Given the description of an element on the screen output the (x, y) to click on. 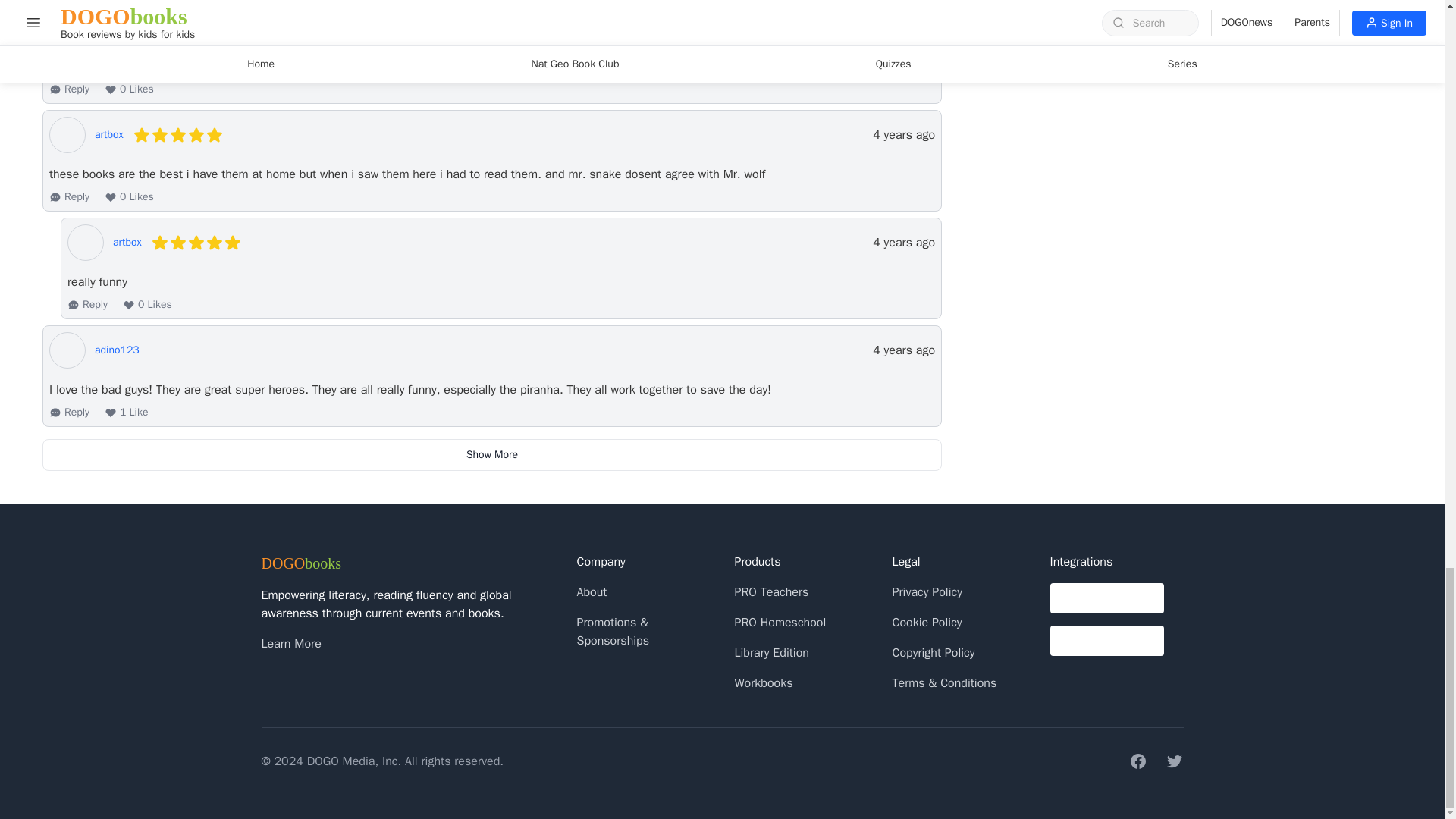
November 14, 2020 (903, 242)
January 6, 2021 (903, 27)
November 14, 2020 (903, 135)
August 19, 2020 (903, 350)
